Given the description of an element on the screen output the (x, y) to click on. 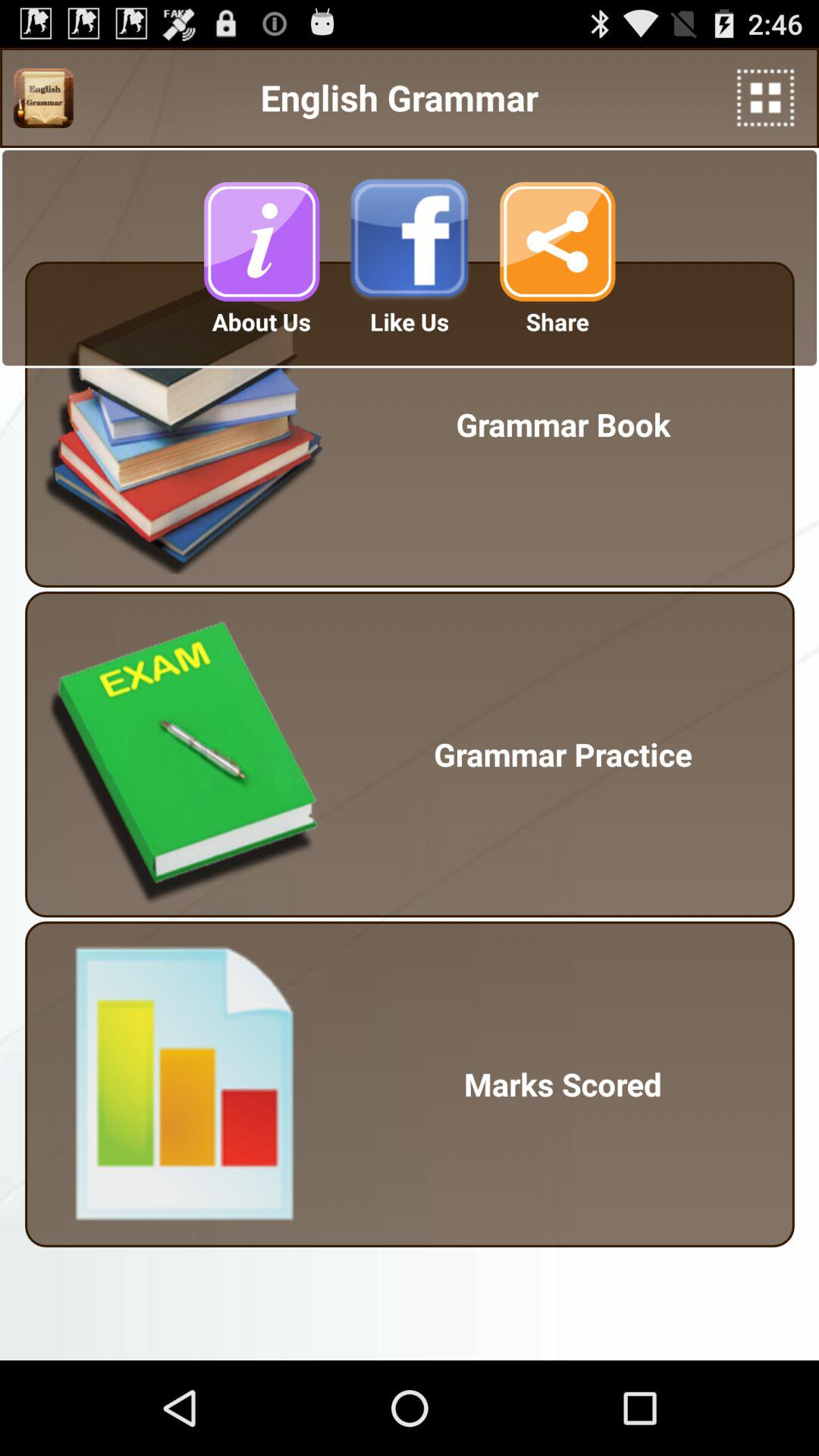
information button (261, 241)
